Given the description of an element on the screen output the (x, y) to click on. 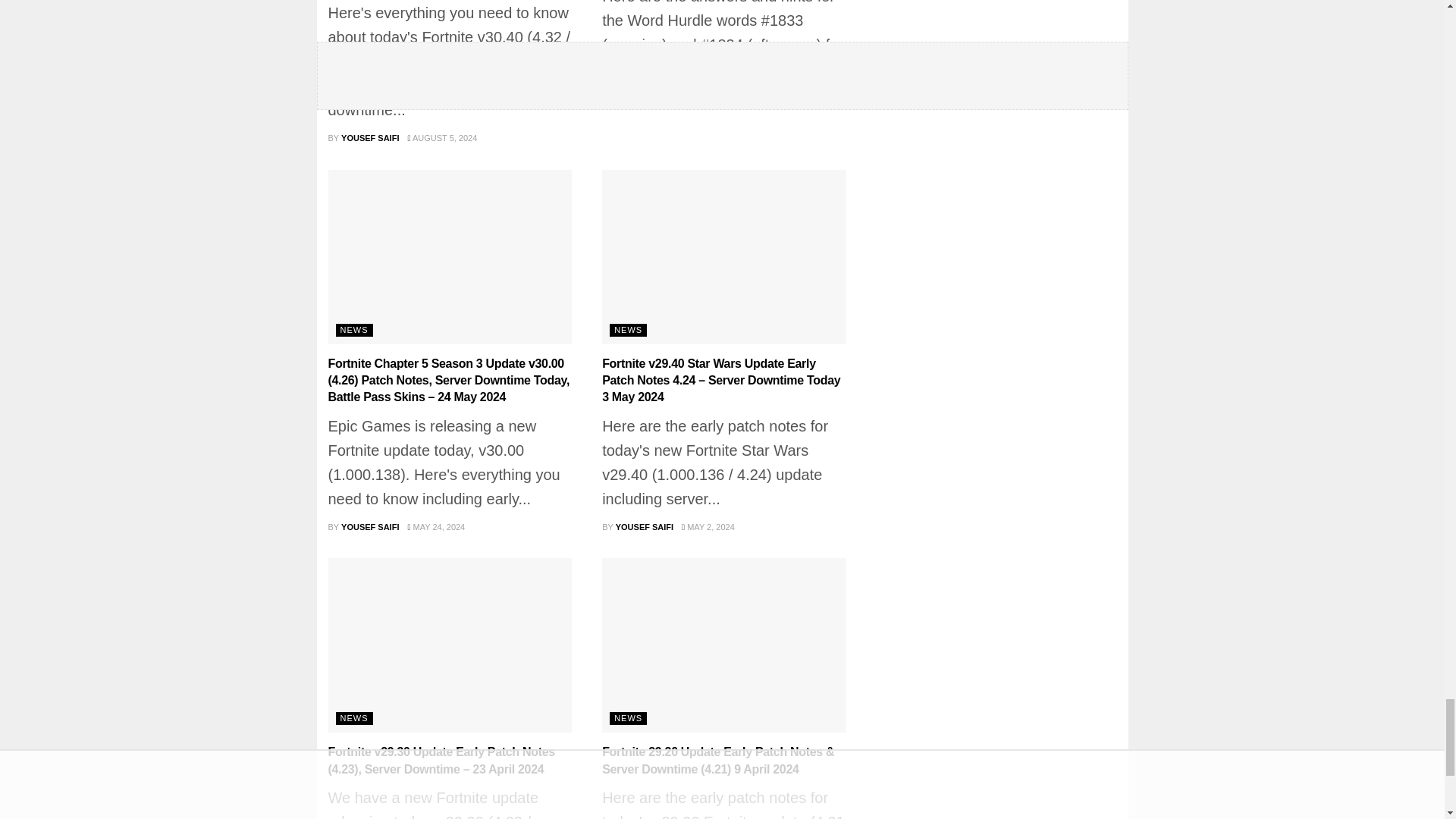
KHADIJA SAIFI (646, 96)
NEWS (628, 329)
YOUSEF SAIFI (643, 526)
YOUSEF SAIFI (369, 137)
YOUSEF SAIFI (369, 526)
MAY 24, 2024 (435, 526)
NEWS (353, 329)
JULY 21, 2024 (714, 96)
AUGUST 5, 2024 (442, 137)
